Given the description of an element on the screen output the (x, y) to click on. 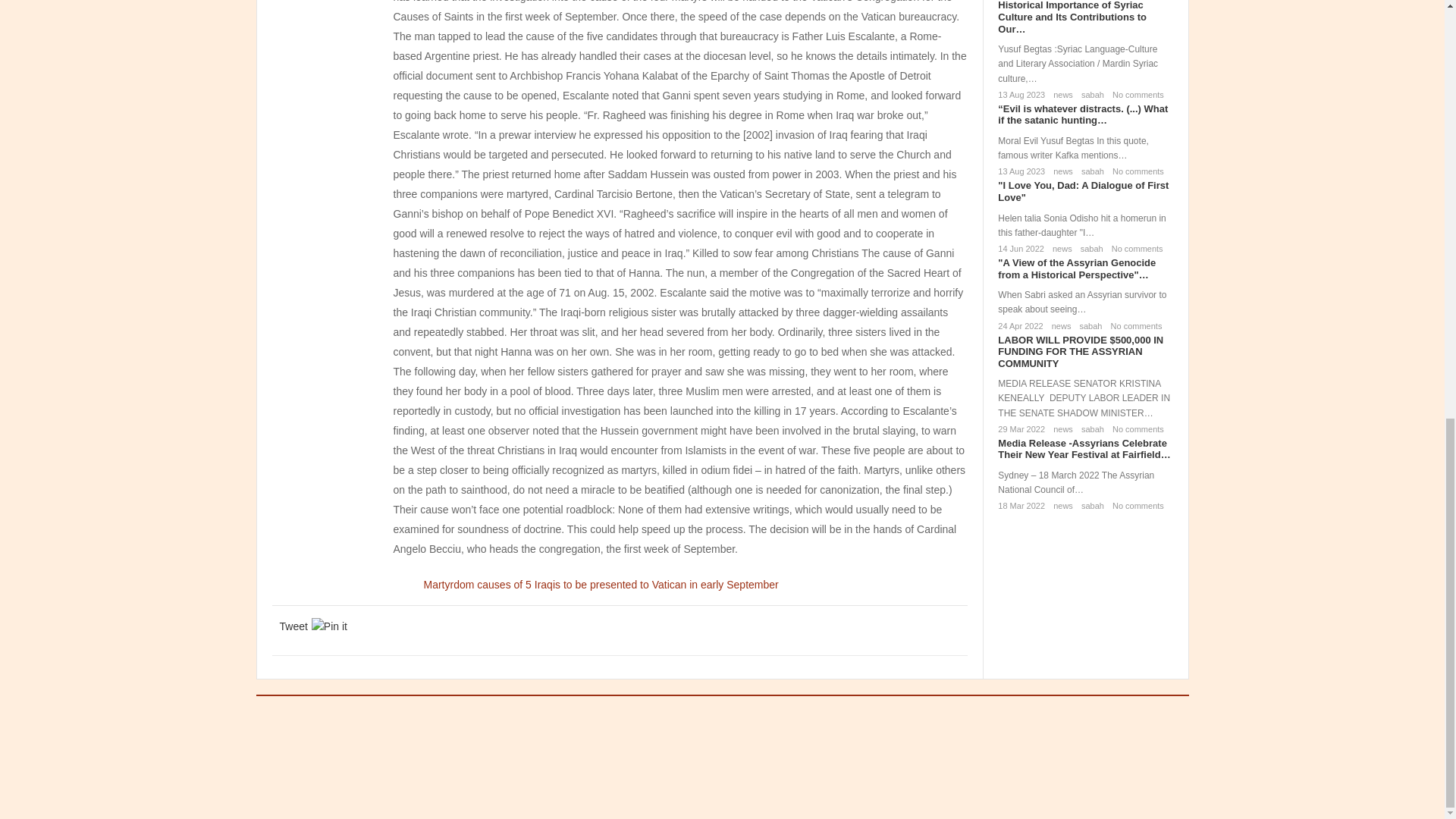
Tweet (293, 626)
Pin it (329, 626)
